Given the description of an element on the screen output the (x, y) to click on. 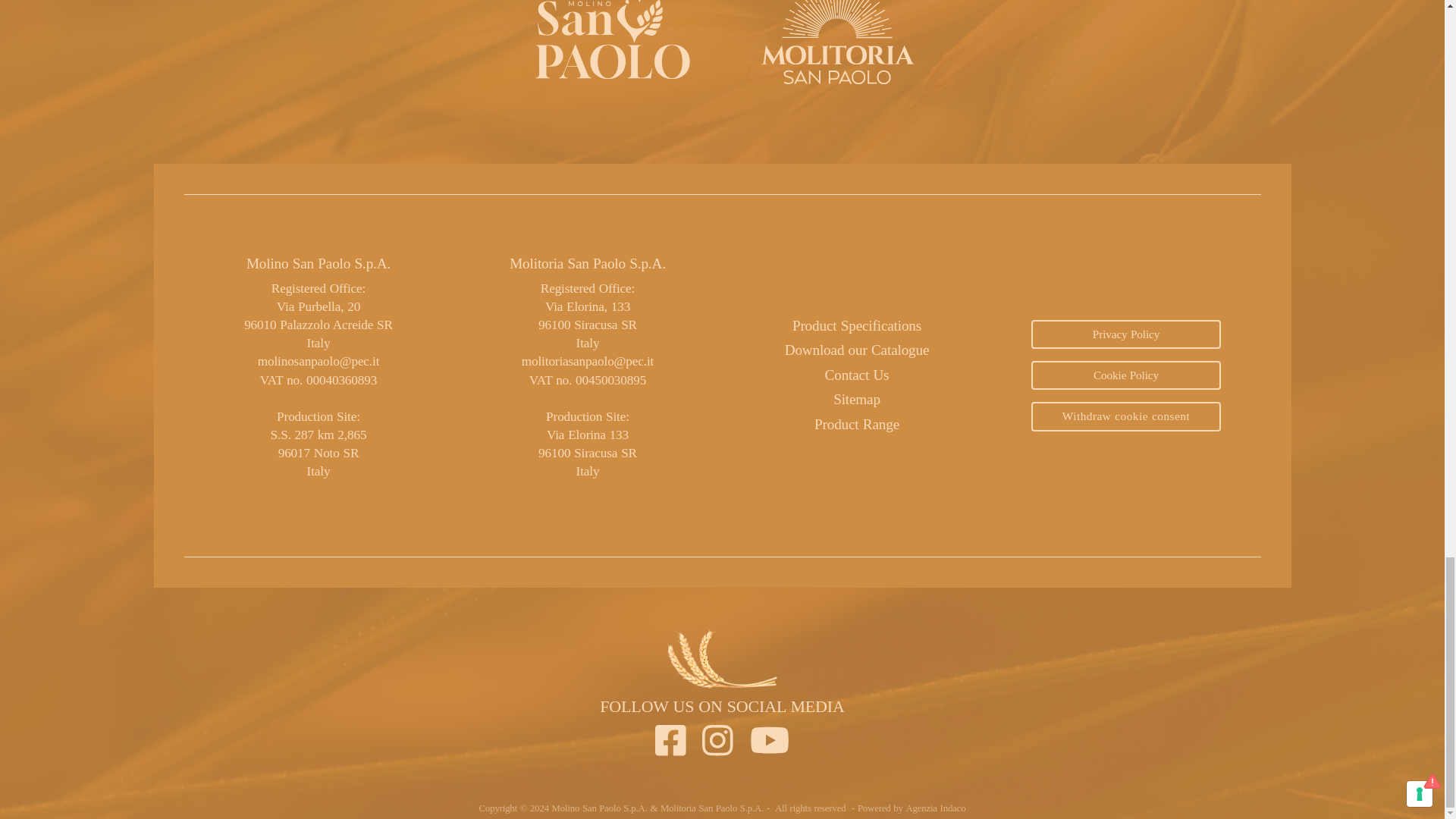
Cookie Policy (1125, 375)
Privacy Policy (1125, 334)
